Given the description of an element on the screen output the (x, y) to click on. 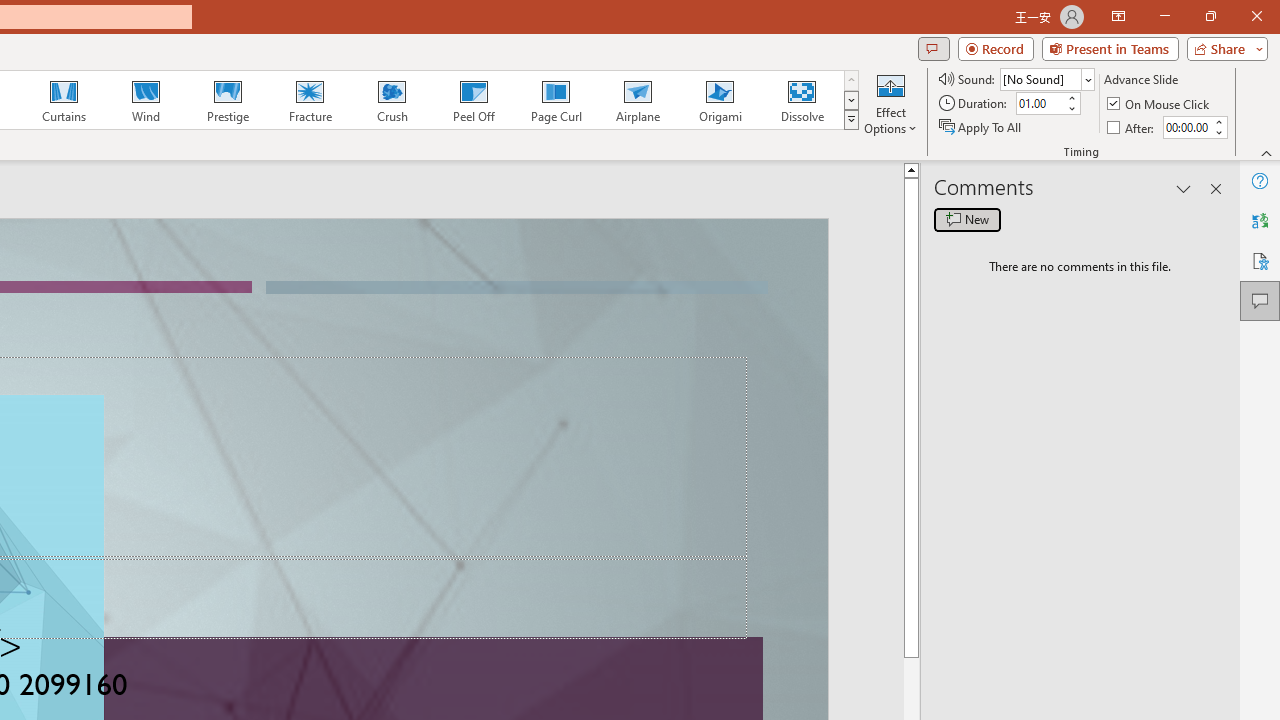
Page Curl (555, 100)
Apply To All (981, 126)
Fracture (309, 100)
Origami (719, 100)
Wind (145, 100)
After (1186, 127)
Sound (1046, 78)
